Given the description of an element on the screen output the (x, y) to click on. 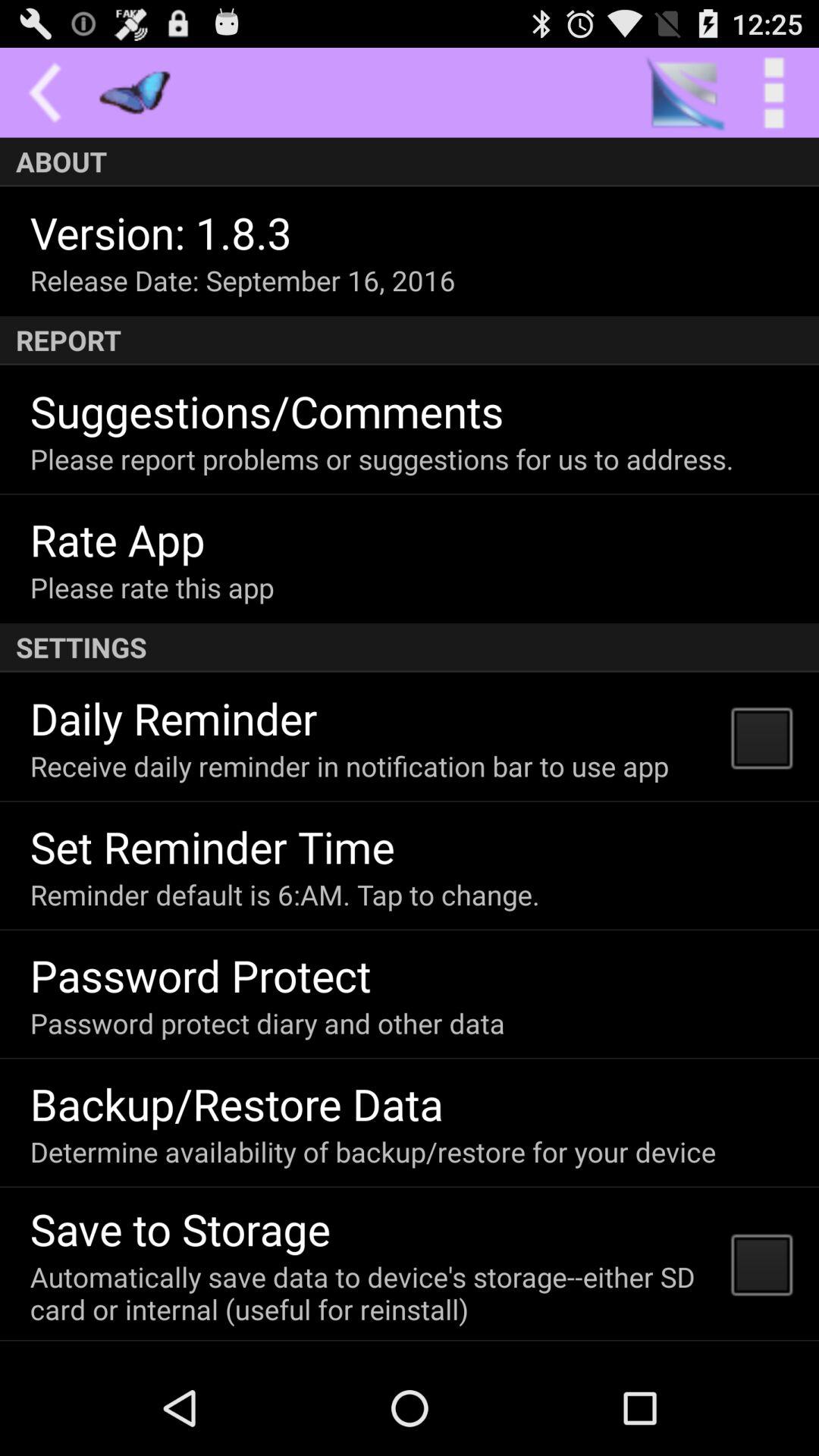
swipe to the automatically save data icon (370, 1293)
